Given the description of an element on the screen output the (x, y) to click on. 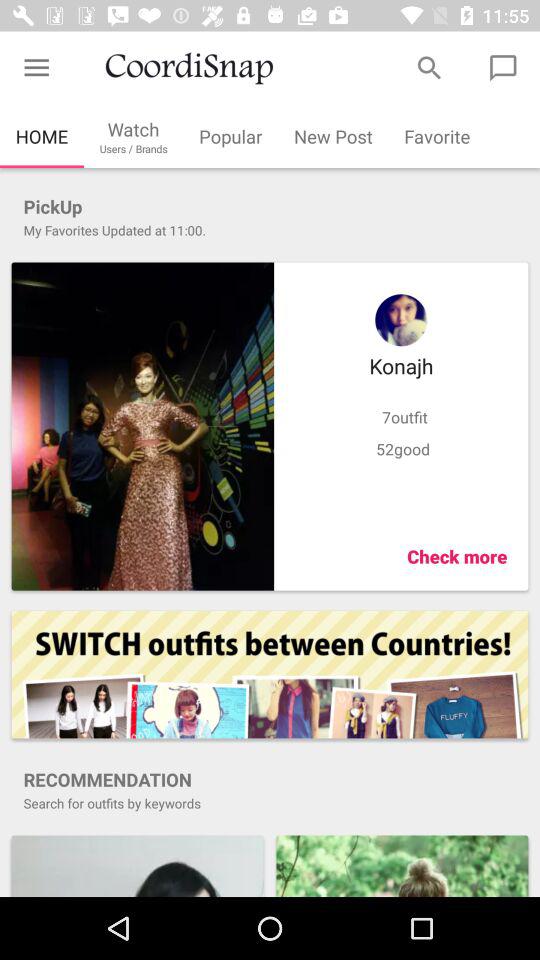
tu nueva amiga (137, 865)
